Given the description of an element on the screen output the (x, y) to click on. 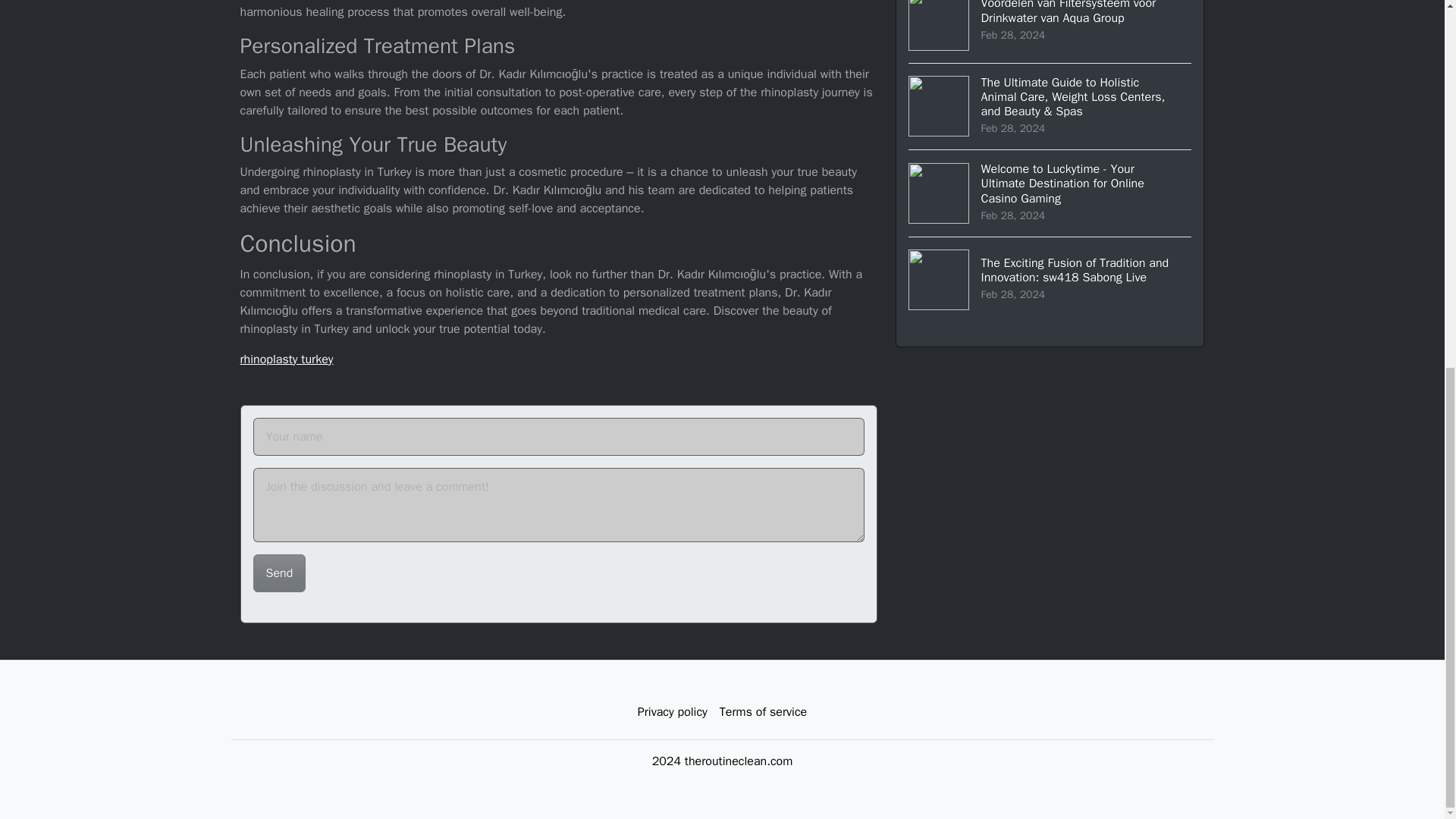
Terms of service (762, 711)
Send (279, 573)
Send (279, 573)
Privacy policy (672, 711)
rhinoplasty turkey (286, 359)
